Given the description of an element on the screen output the (x, y) to click on. 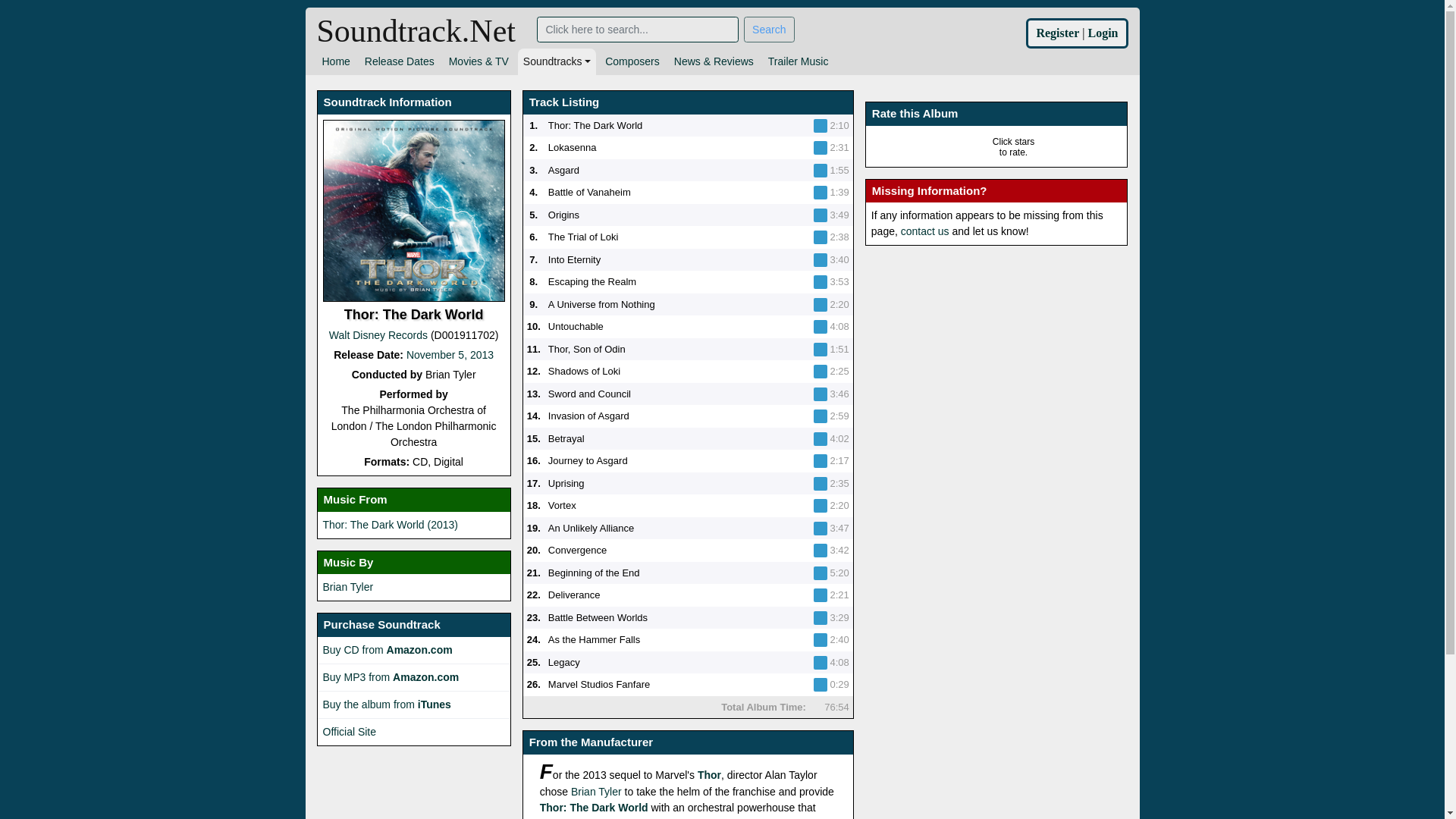
Home (336, 61)
Release Dates (399, 61)
Trailer Music (798, 61)
Soundtracks (556, 61)
Register (1056, 32)
November 5, 2013 (449, 354)
Buy MP3 from Amazon.com (391, 676)
Soundtrack.Net (416, 29)
Buy the album from iTunes (387, 704)
Official Site (350, 731)
Search (769, 29)
Composers (632, 61)
Buy CD from Amazon.com (387, 649)
Login (1102, 32)
Walt Disney Records (378, 335)
